Given the description of an element on the screen output the (x, y) to click on. 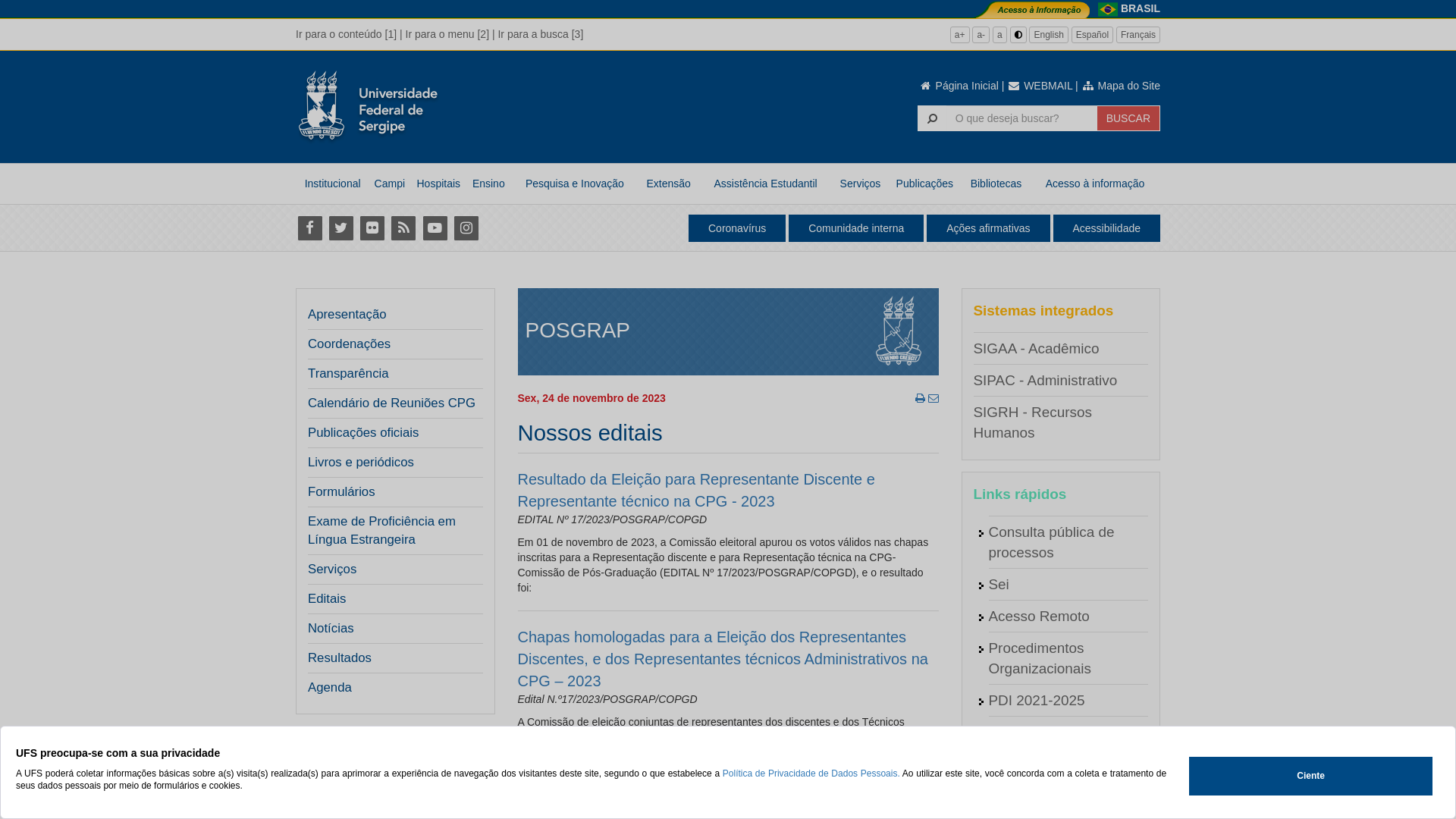
Instagram Element type: text (465, 227)
SIPAC - Administrativo Element type: text (1045, 380)
Telefones Element type: text (1019, 795)
Hospitais Element type: text (438, 183)
Twitter Element type: text (340, 227)
Ensino Element type: text (488, 183)
Agenda do Reitor Element type: text (1044, 732)
PDI 2021-2025 Element type: text (1036, 700)
a+ Element type: text (959, 34)
English Element type: text (1048, 34)
Flickr Element type: text (371, 227)
Comunidade interna Element type: text (855, 227)
RSS Element type: text (403, 227)
Ir para a busca [3] Element type: text (540, 34)
Acessibilidade Element type: text (1106, 227)
Youtube Element type: text (434, 227)
WEBMAIL Element type: text (1039, 85)
a Element type: text (999, 34)
Institucional Element type: text (332, 183)
BRASIL Element type: text (1140, 8)
Facebook Element type: text (309, 227)
a- Element type: text (980, 34)
Ir para o menu [2] Element type: text (447, 34)
Mapa do Site Element type: text (1120, 85)
Campi Element type: text (389, 183)
Sei Element type: text (998, 584)
SIGRH - Recursos Humanos Element type: text (1032, 422)
BUSCAR Element type: text (1128, 118)
Agenda do Vice-Reitor Element type: text (1060, 763)
Procedimentos Organizacionais Element type: text (1039, 658)
Resultados Element type: text (339, 657)
Acesso Remoto Element type: text (1038, 616)
Editais Element type: text (326, 598)
Agenda Element type: text (329, 687)
Bibliotecas Element type: text (995, 183)
